Given the description of an element on the screen output the (x, y) to click on. 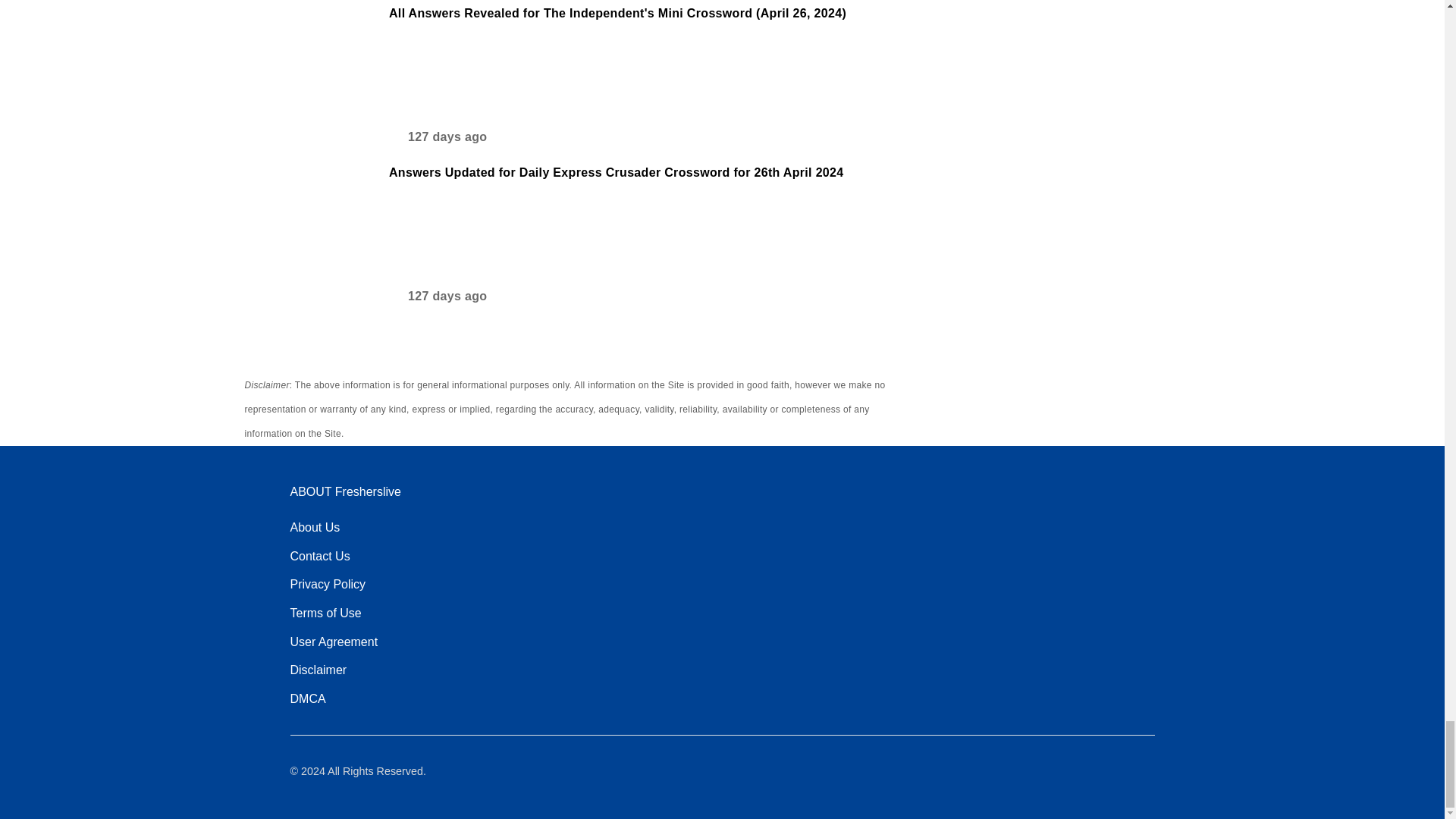
127 days ago (437, 141)
127 days ago (437, 300)
About Us (314, 527)
